Given the description of an element on the screen output the (x, y) to click on. 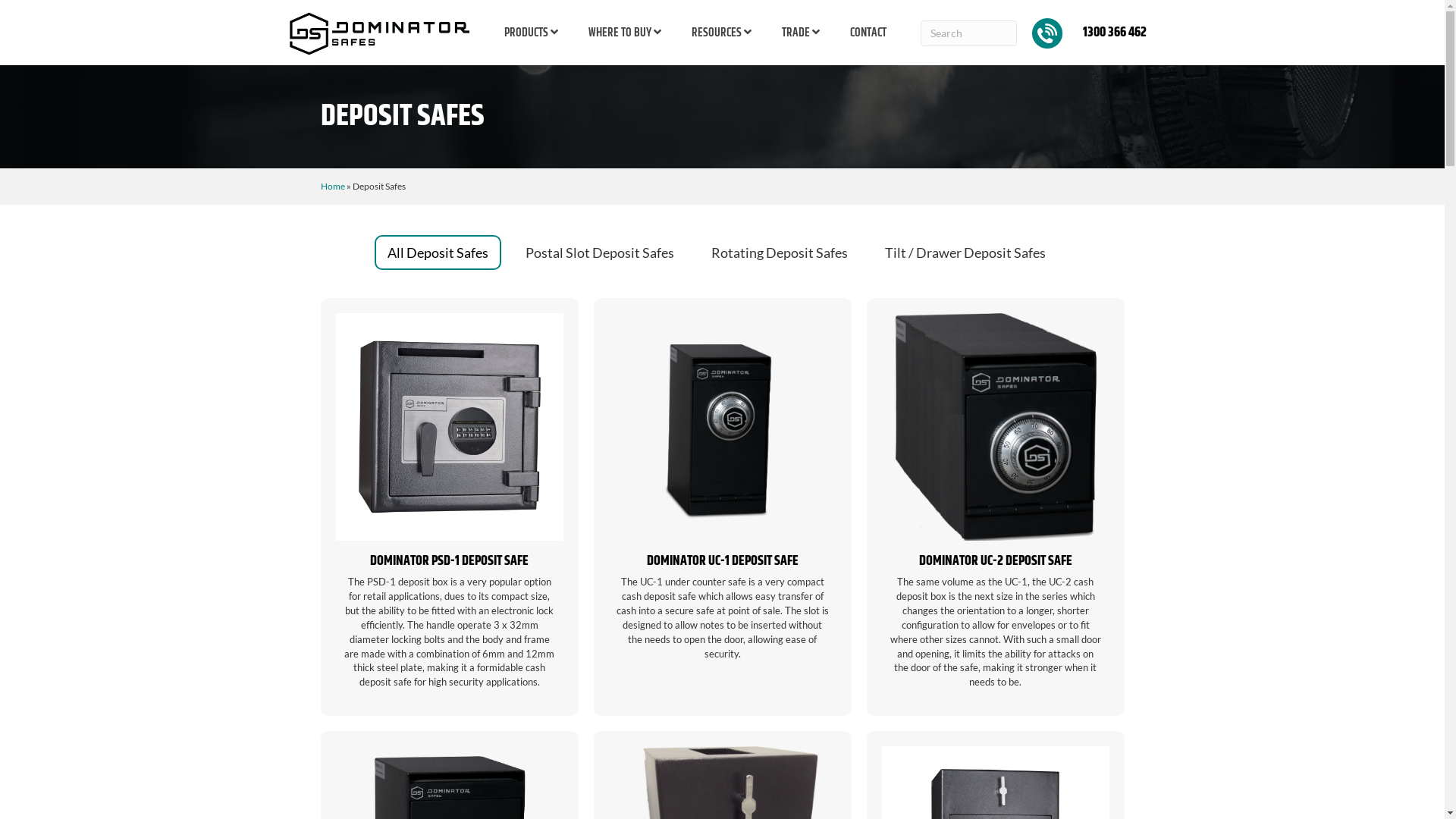
UC-2C Element type: hover (994, 426)
CONTACT Element type: text (867, 32)
WHERE TO BUY Element type: text (624, 32)
1300 366 462 Element type: text (1095, 32)
Type and press Enter to search. Element type: hover (968, 33)
TRADE Element type: text (800, 32)
Dominator PSD-1 deposit safe Element type: hover (448, 506)
UC-1C Element type: hover (721, 426)
RESOURCES Element type: text (721, 32)
PRODUCTS Element type: text (531, 32)
PSD-1T Element type: hover (448, 426)
Dominator-Logo Element type: hover (379, 33)
Dominator UC-2 deposit safe Element type: hover (994, 506)
Dominator UC-1 deposit safe Element type: hover (721, 506)
Home Element type: text (332, 185)
